Given the description of an element on the screen output the (x, y) to click on. 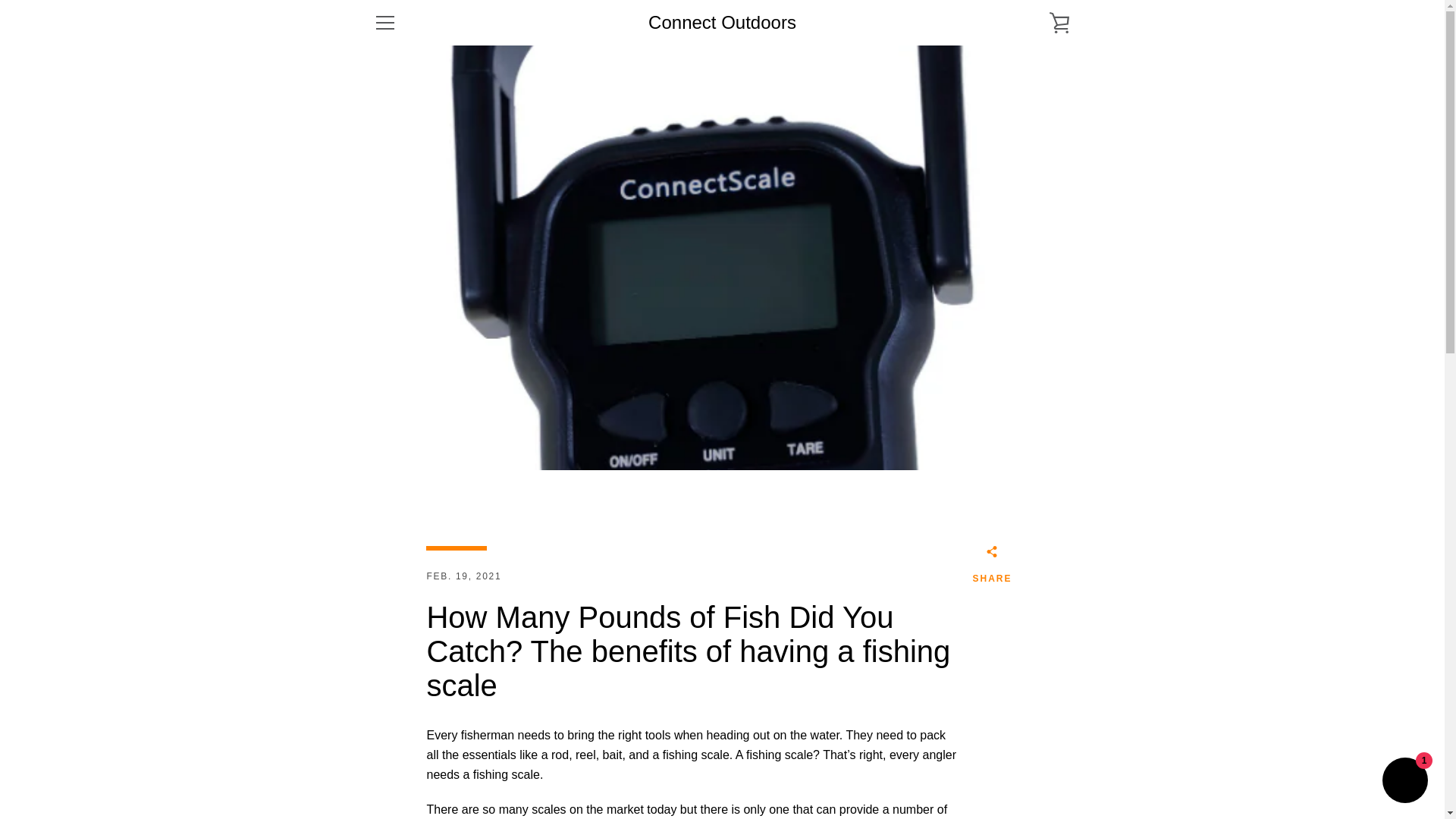
Discover (988, 755)
Shopify online store chat (1404, 781)
Shop Pay (1022, 778)
American Express (883, 755)
Meta Pay (1022, 755)
Visa (1057, 778)
Diners Club (953, 755)
Mastercard (1057, 755)
Connect Outdoors (721, 23)
SHARE (991, 567)
MENU (384, 22)
Apple Pay (918, 755)
VIEW CART (1059, 22)
